Given the description of an element on the screen output the (x, y) to click on. 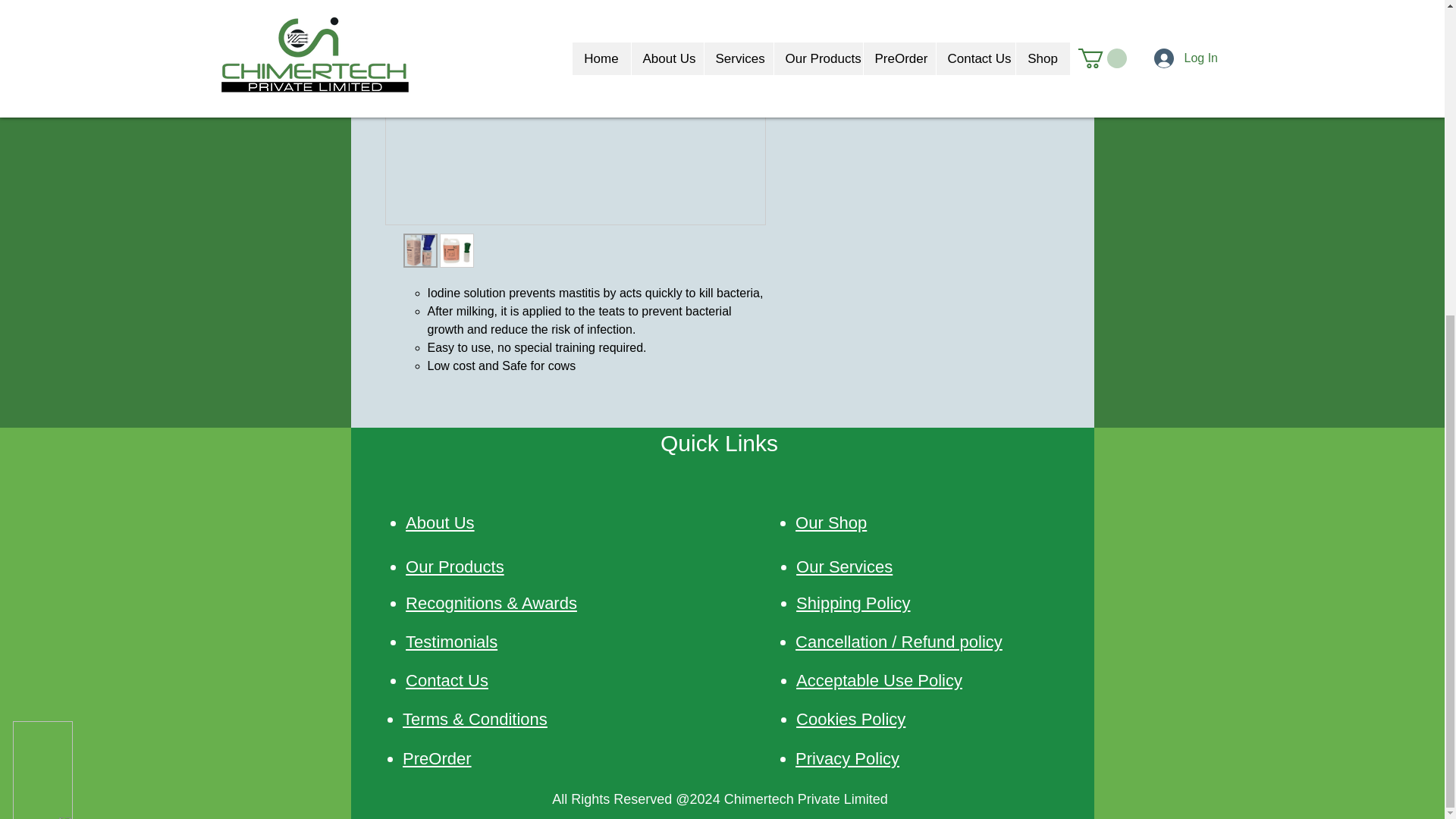
About Us (440, 522)
Testimonials (451, 641)
PreOrder (436, 758)
Our Products (454, 566)
Our Shop (830, 522)
Shipping Policy (853, 602)
Our Services (844, 566)
Contact Us (446, 680)
Cookies Policy (850, 719)
Privacy Policy (846, 758)
Acceptable Use Policy (879, 680)
